Given the description of an element on the screen output the (x, y) to click on. 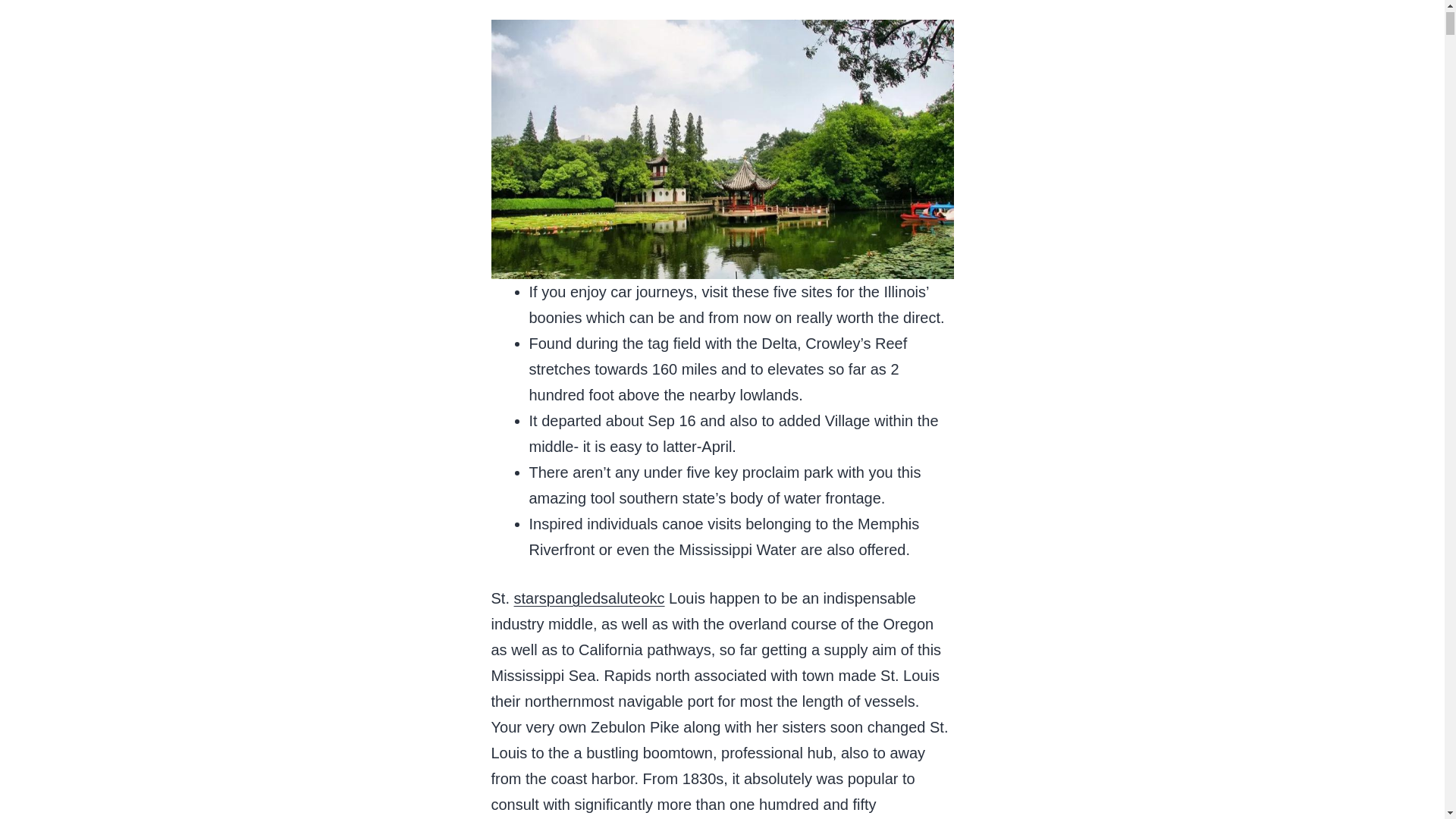
starspangledsaluteokc (589, 597)
